Given the description of an element on the screen output the (x, y) to click on. 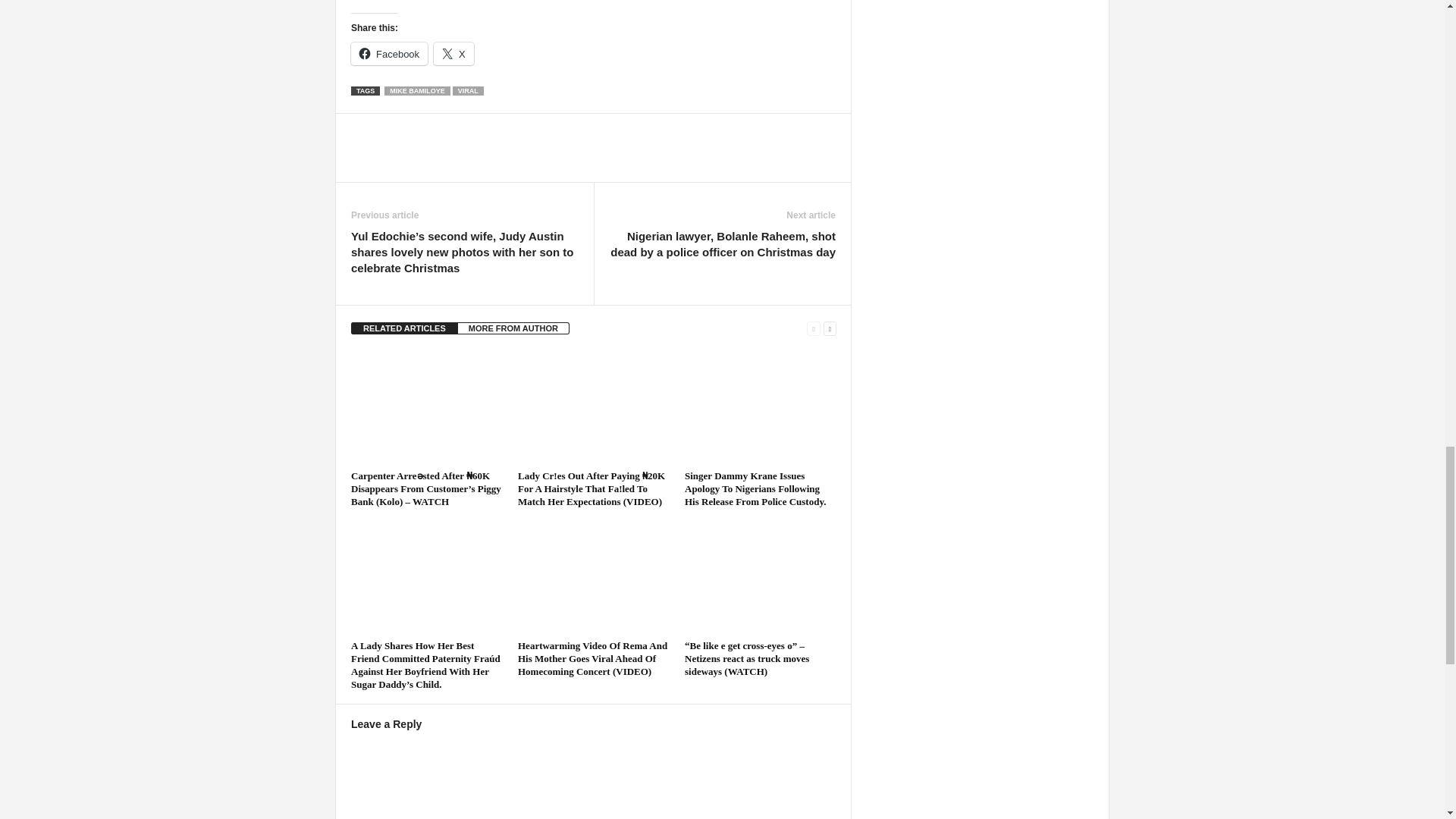
Click to share on X (453, 53)
bottomFacebookLike (390, 129)
Facebook (389, 53)
Click to share on Facebook (389, 53)
